Given the description of an element on the screen output the (x, y) to click on. 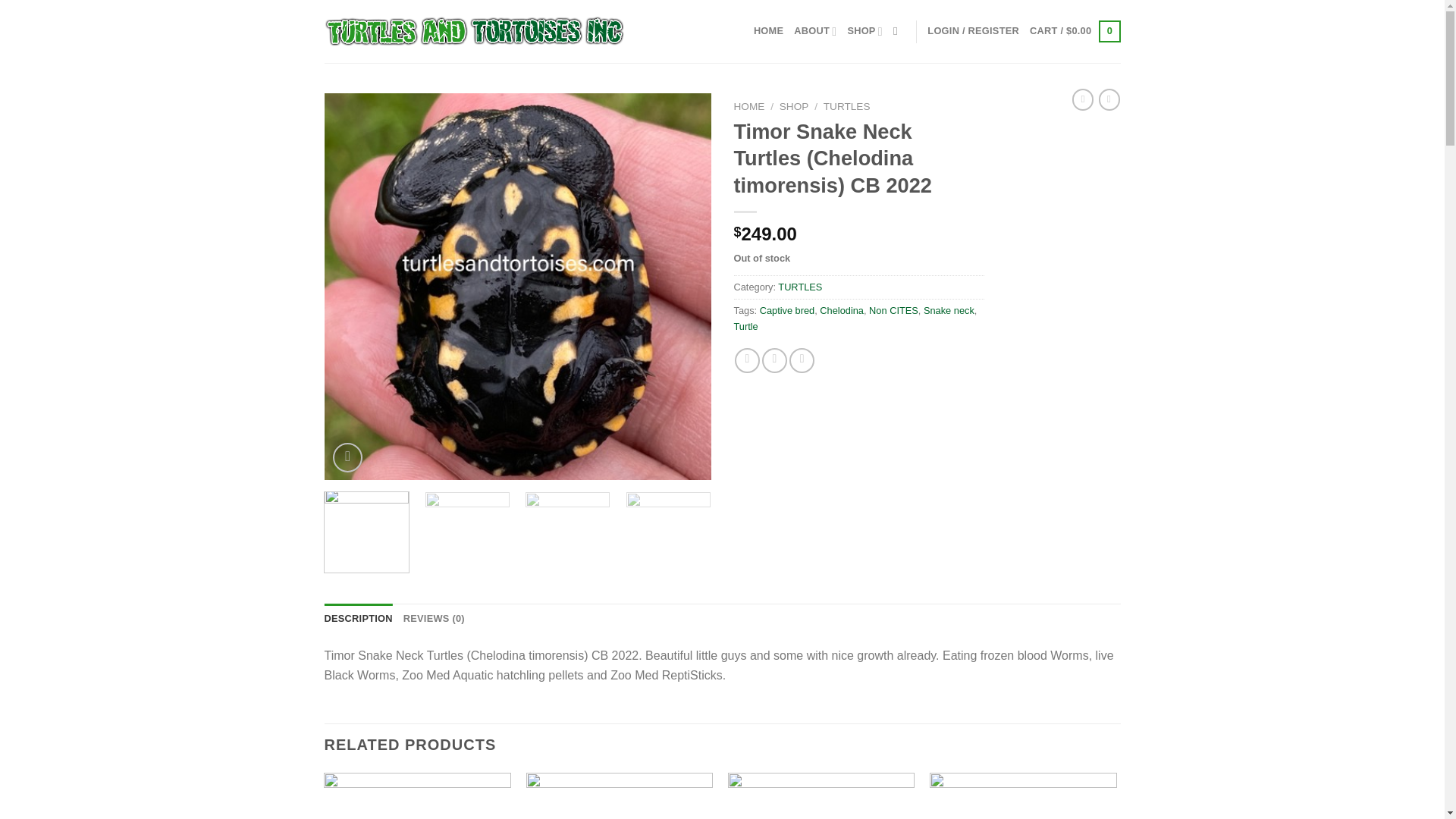
SHOP (793, 106)
TURTLES (847, 106)
Zoom (347, 457)
ABOUT (814, 30)
Cart (1074, 31)
HOME (749, 106)
Email to a Friend (801, 360)
HOME (768, 30)
Share on Facebook (747, 360)
SHOP (864, 30)
Share on Twitter (774, 360)
Login (973, 30)
